Given the description of an element on the screen output the (x, y) to click on. 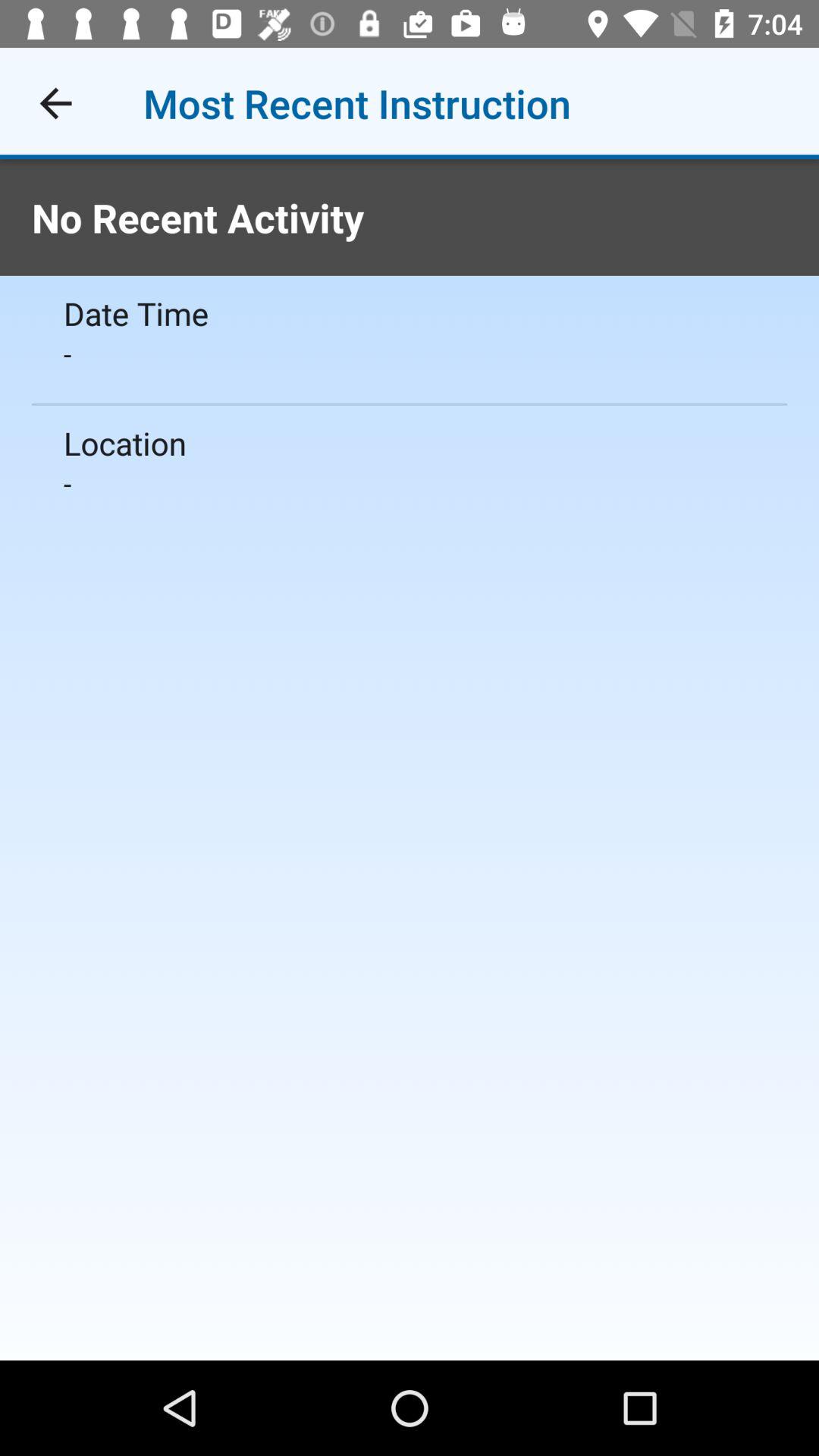
turn on icon below the no recent activity item (409, 312)
